Given the description of an element on the screen output the (x, y) to click on. 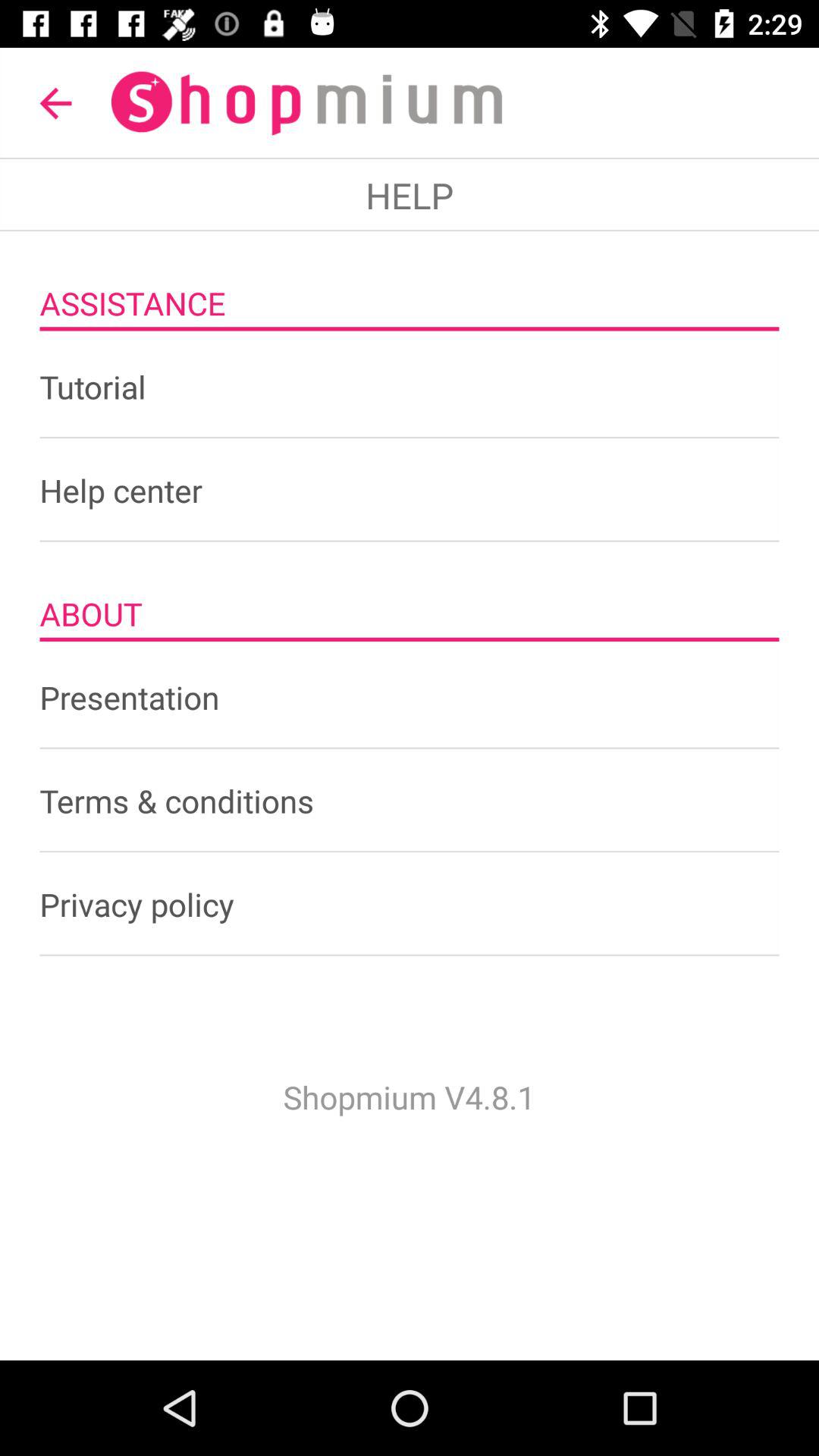
choose icon above the terms & conditions item (409, 697)
